Given the description of an element on the screen output the (x, y) to click on. 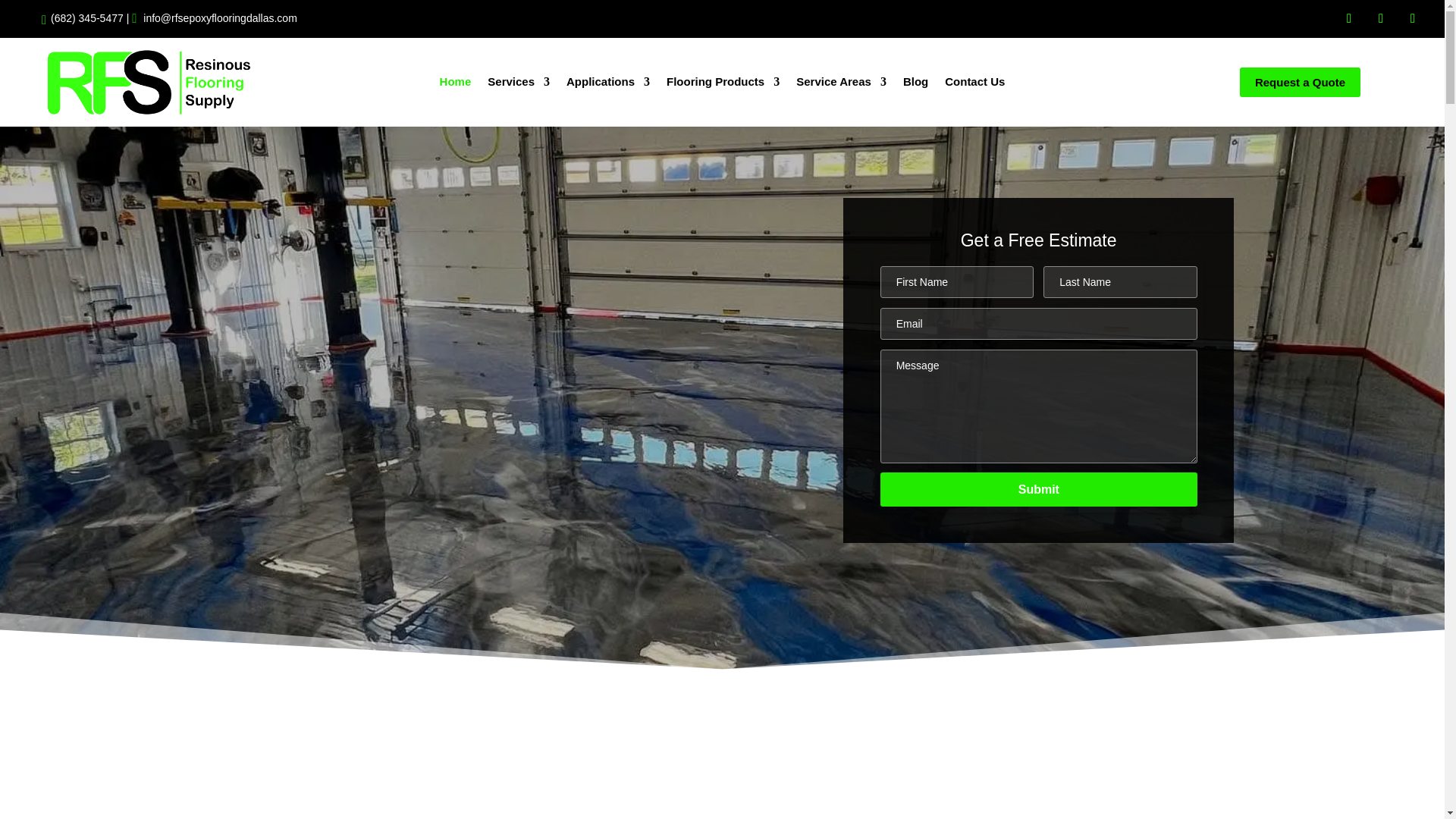
Flooring Products (722, 84)
Applications (607, 84)
Home (455, 84)
Services (518, 84)
Follow on Twitter (1412, 18)
Follow on Instagram (1380, 18)
Follow on Facebook (1348, 18)
Service Areas (841, 84)
